Given the description of an element on the screen output the (x, y) to click on. 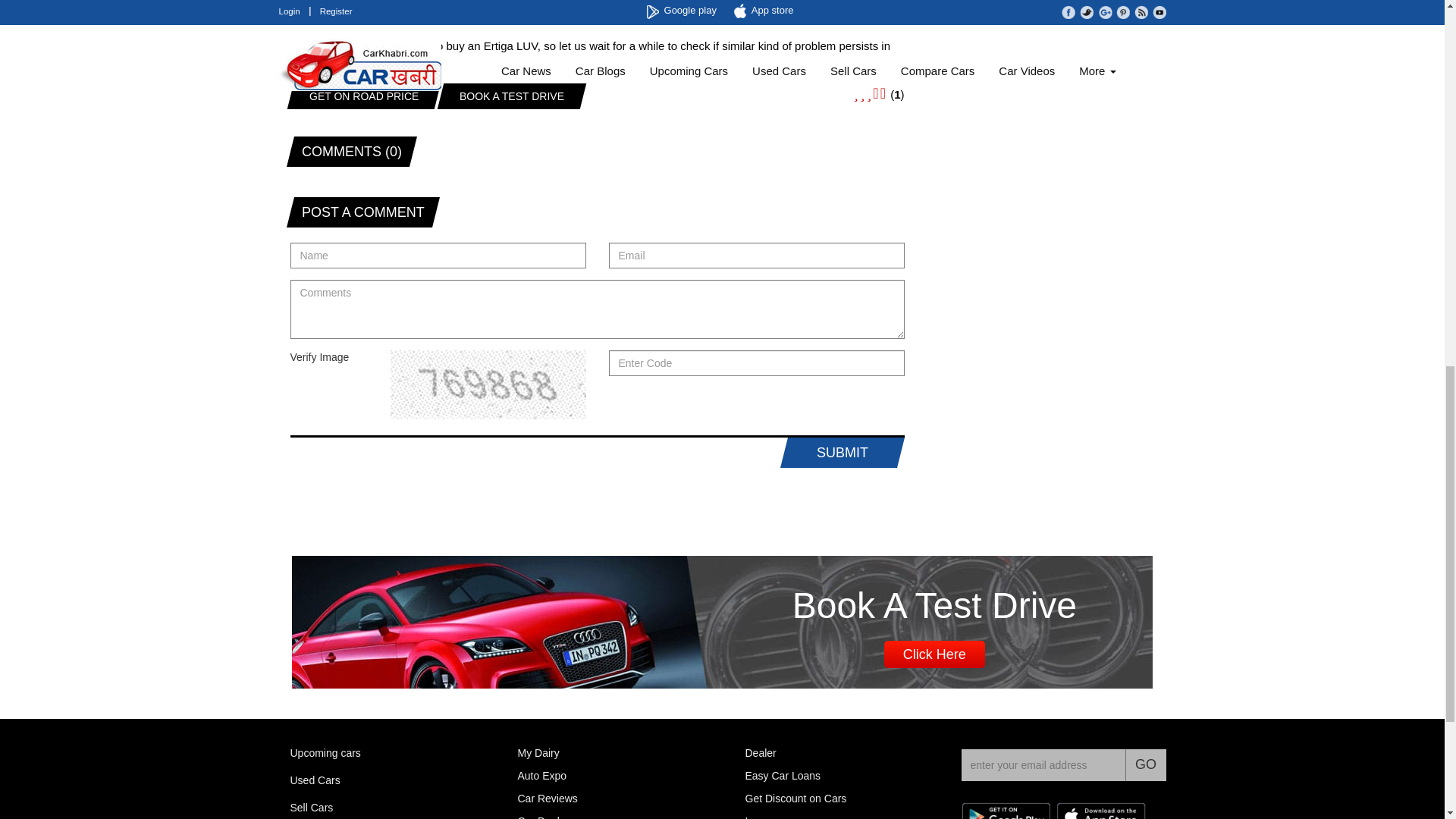
Discount (794, 798)
BOOK A TEST DRIVE (508, 95)
GET ON ROAD PRICE (359, 95)
Upcoming cars (324, 753)
Dealer (760, 752)
Car Loans (782, 775)
Click Here (934, 654)
SUBMIT (838, 452)
Used Cars (314, 780)
Sell Cars (311, 807)
